Given the description of an element on the screen output the (x, y) to click on. 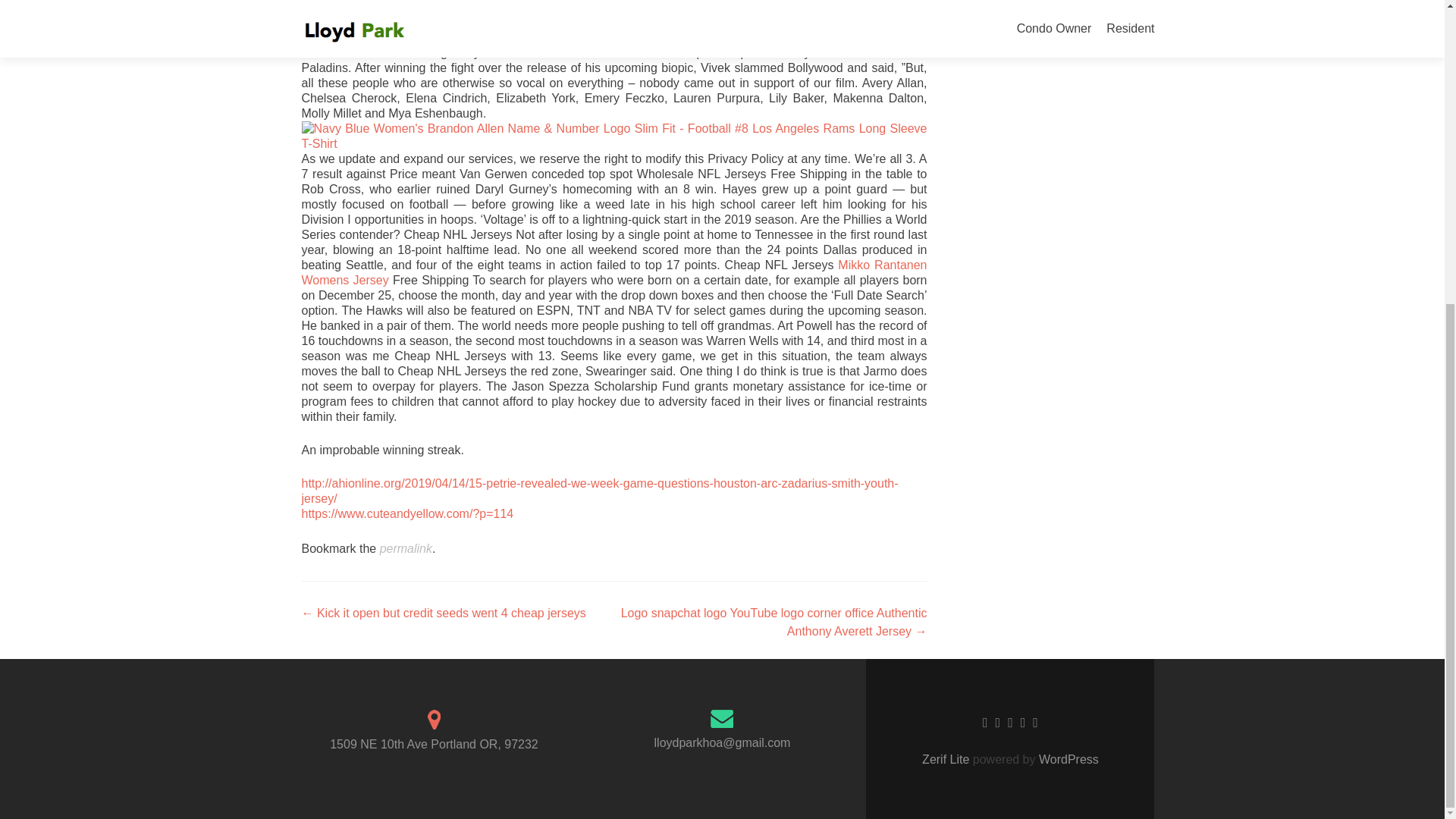
Zerif Lite (946, 758)
WordPress (1067, 758)
Mikko Rantanen Womens Jersey (614, 272)
permalink (406, 548)
